Given the description of an element on the screen output the (x, y) to click on. 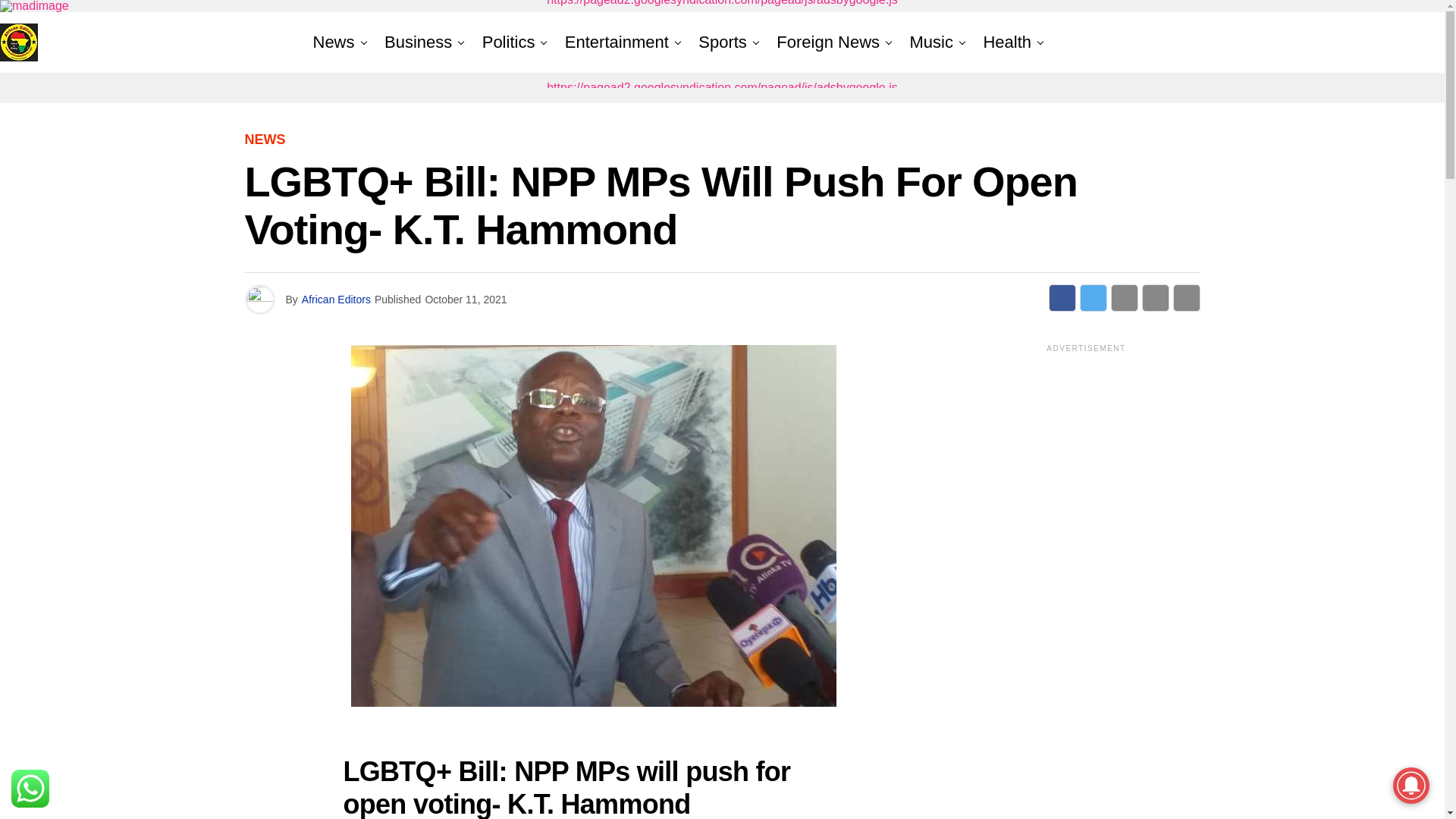
Share on Facebook (1061, 298)
Posts by African Editors (336, 299)
Business (418, 42)
Politics (508, 42)
Tweet This Post (1093, 298)
Entertainment (617, 42)
Sports (722, 42)
